Given the description of an element on the screen output the (x, y) to click on. 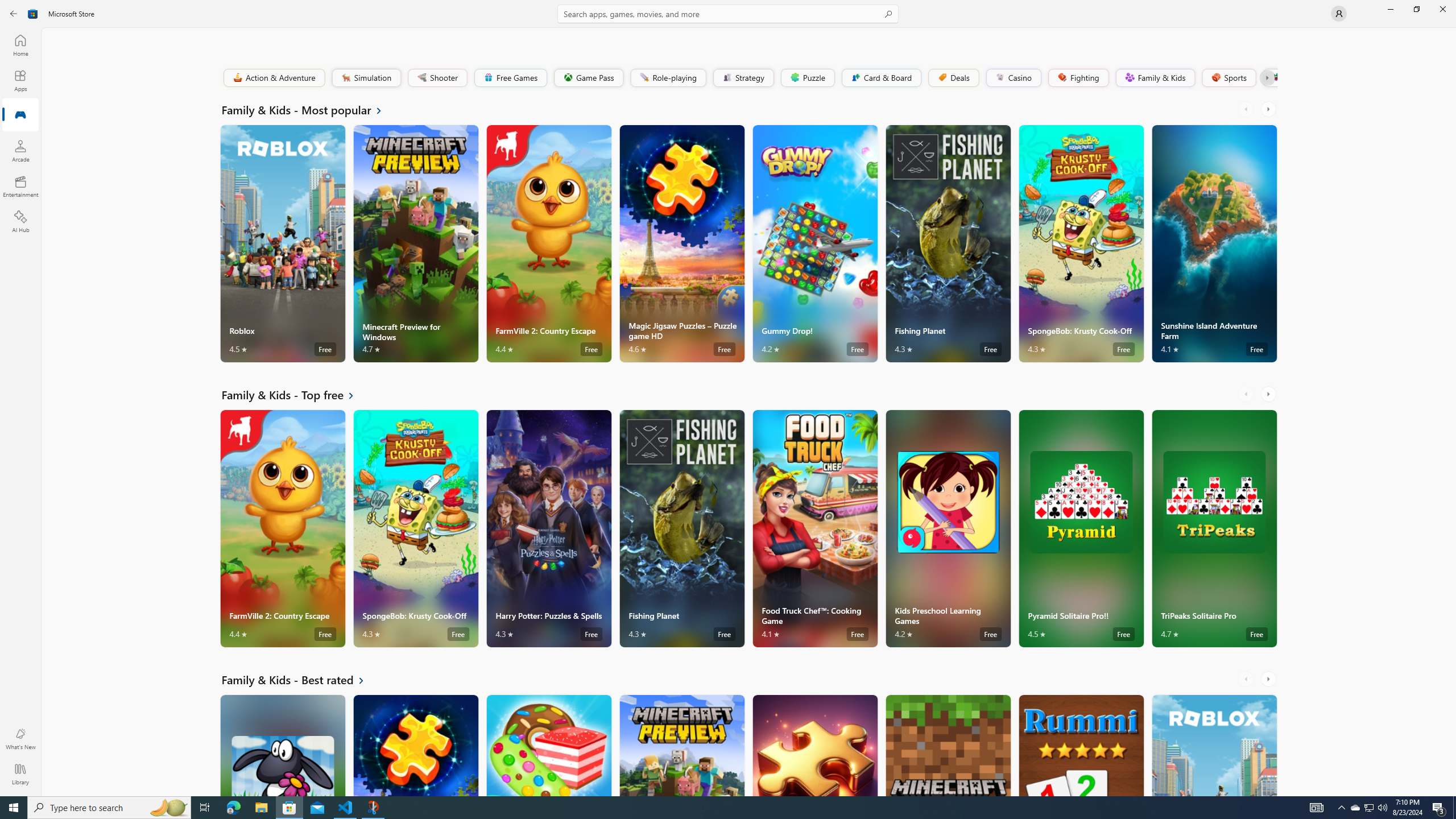
Card & Board (880, 77)
Platformer (1269, 77)
Family & Kids (1154, 77)
Search (727, 13)
Casino (1013, 77)
Action & Adventure (273, 77)
AutomationID: RightScrollButton (1269, 678)
Shooter (436, 77)
Game Pass (588, 77)
